Given the description of an element on the screen output the (x, y) to click on. 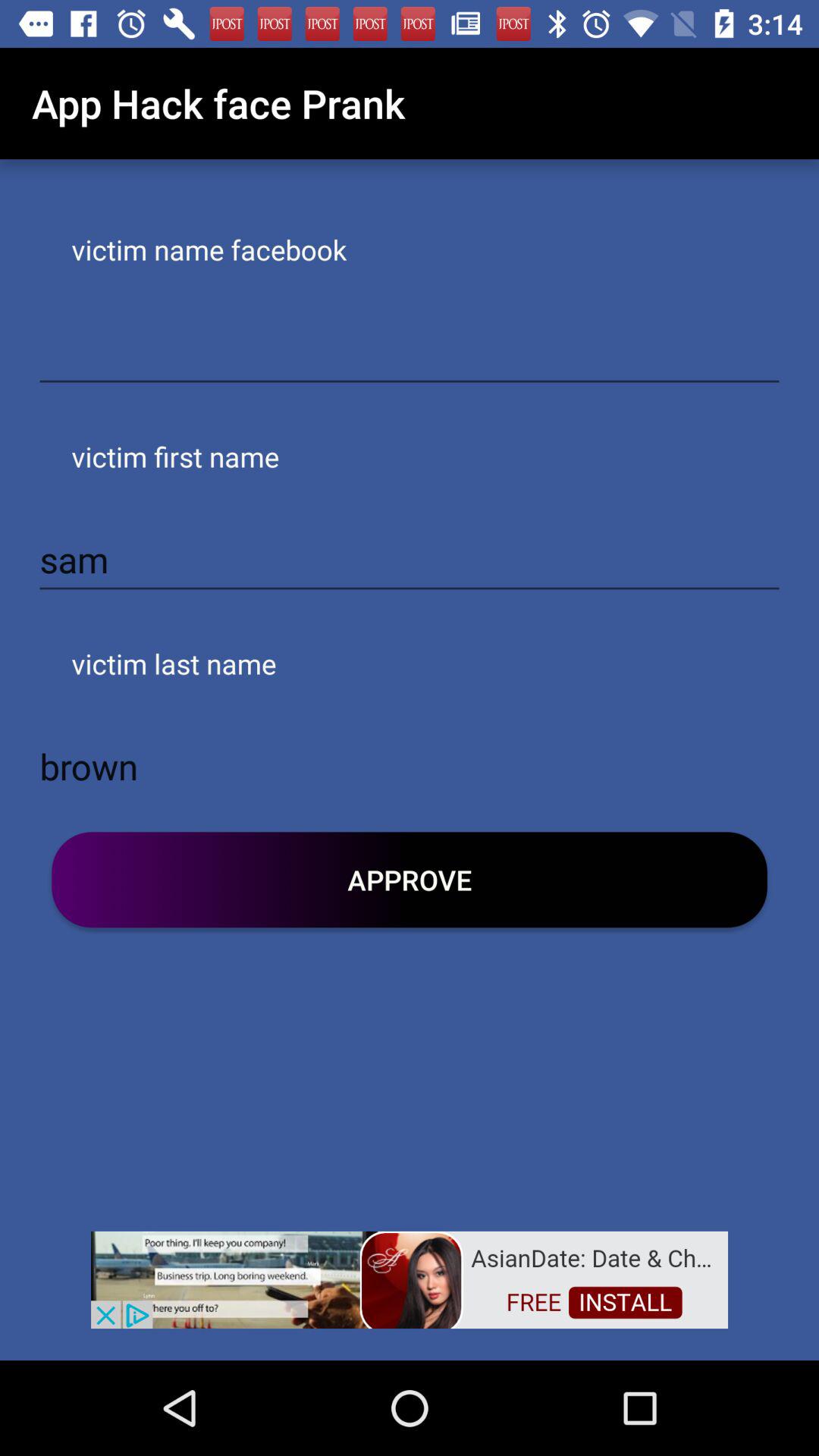
new facebook account (409, 353)
